Given the description of an element on the screen output the (x, y) to click on. 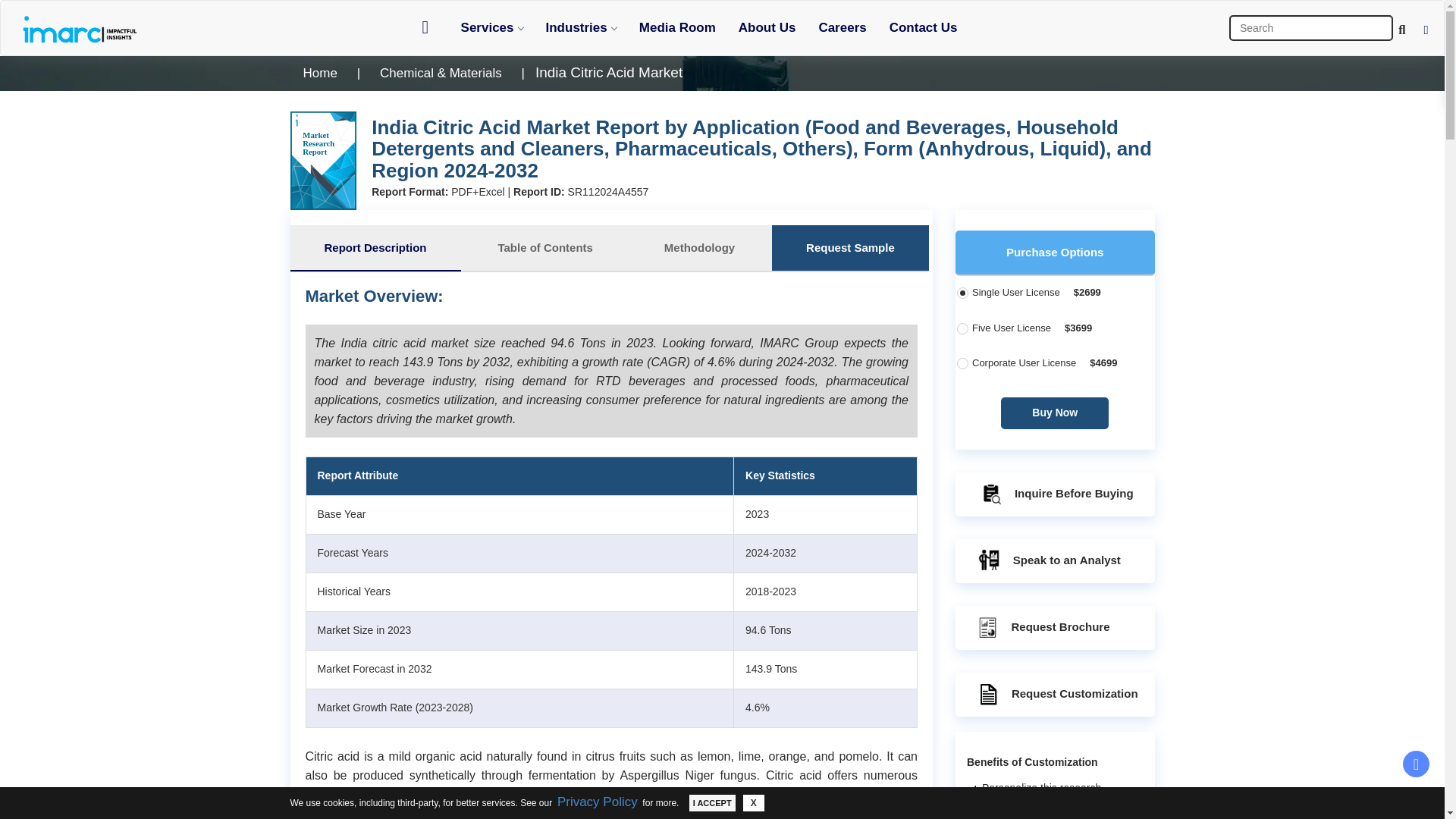
About Us (767, 27)
Careers (841, 27)
Contact Us (923, 27)
Media Room (676, 27)
Services (491, 27)
Industries (580, 27)
